Given the description of an element on the screen output the (x, y) to click on. 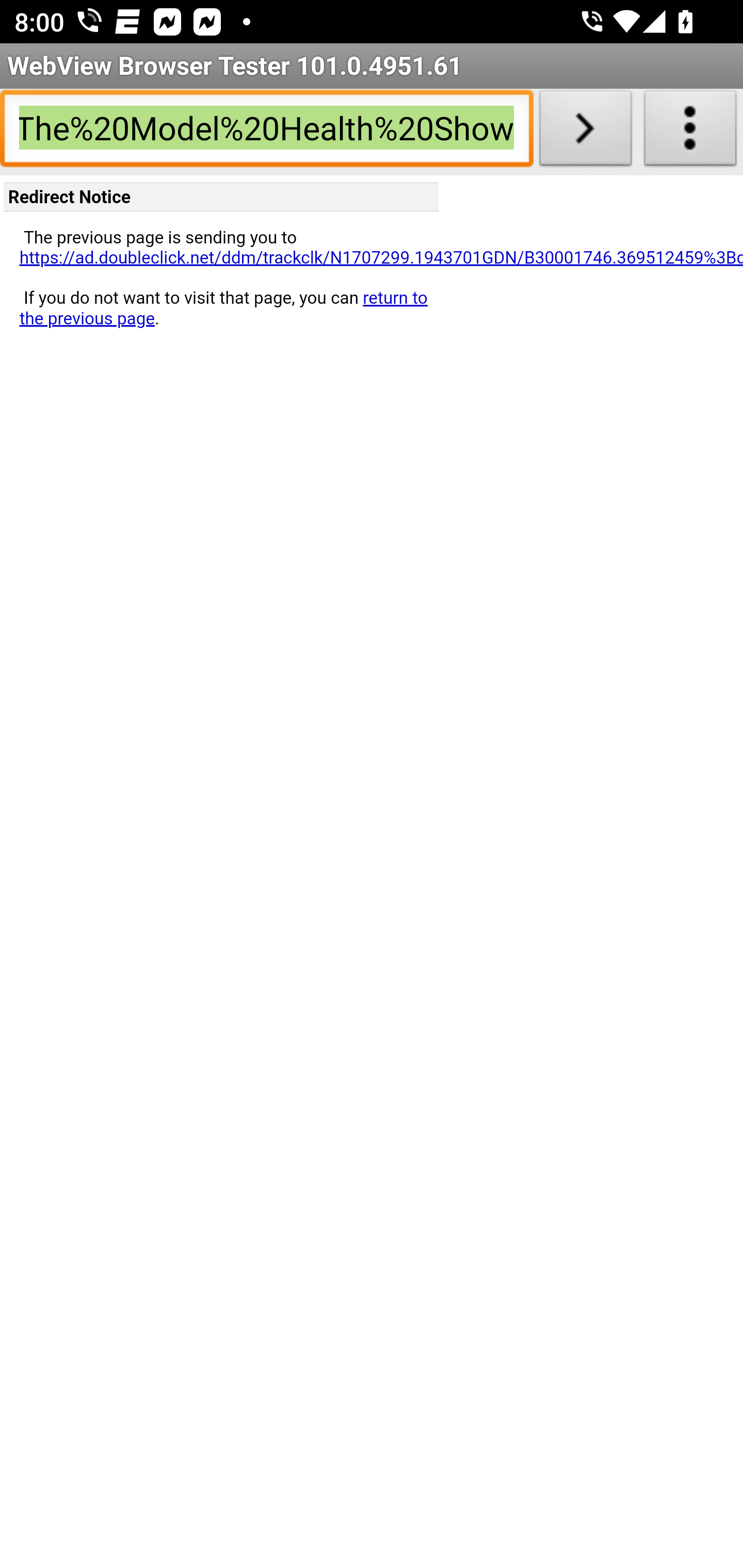
Load URL (585, 132)
About WebView (690, 132)
return to the previous page (222, 307)
